Given the description of an element on the screen output the (x, y) to click on. 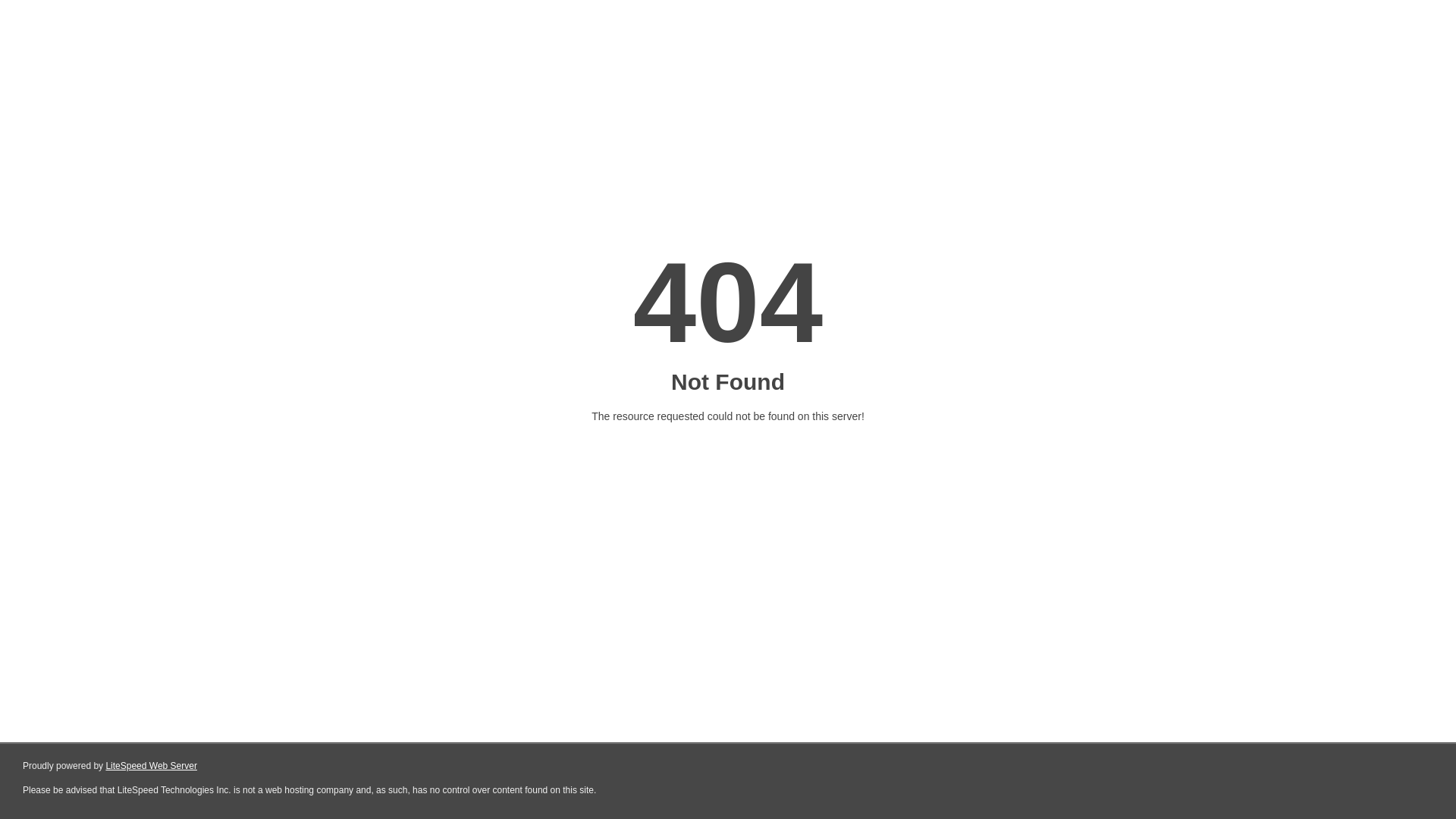
LiteSpeed Web Server (150, 765)
